Given the description of an element on the screen output the (x, y) to click on. 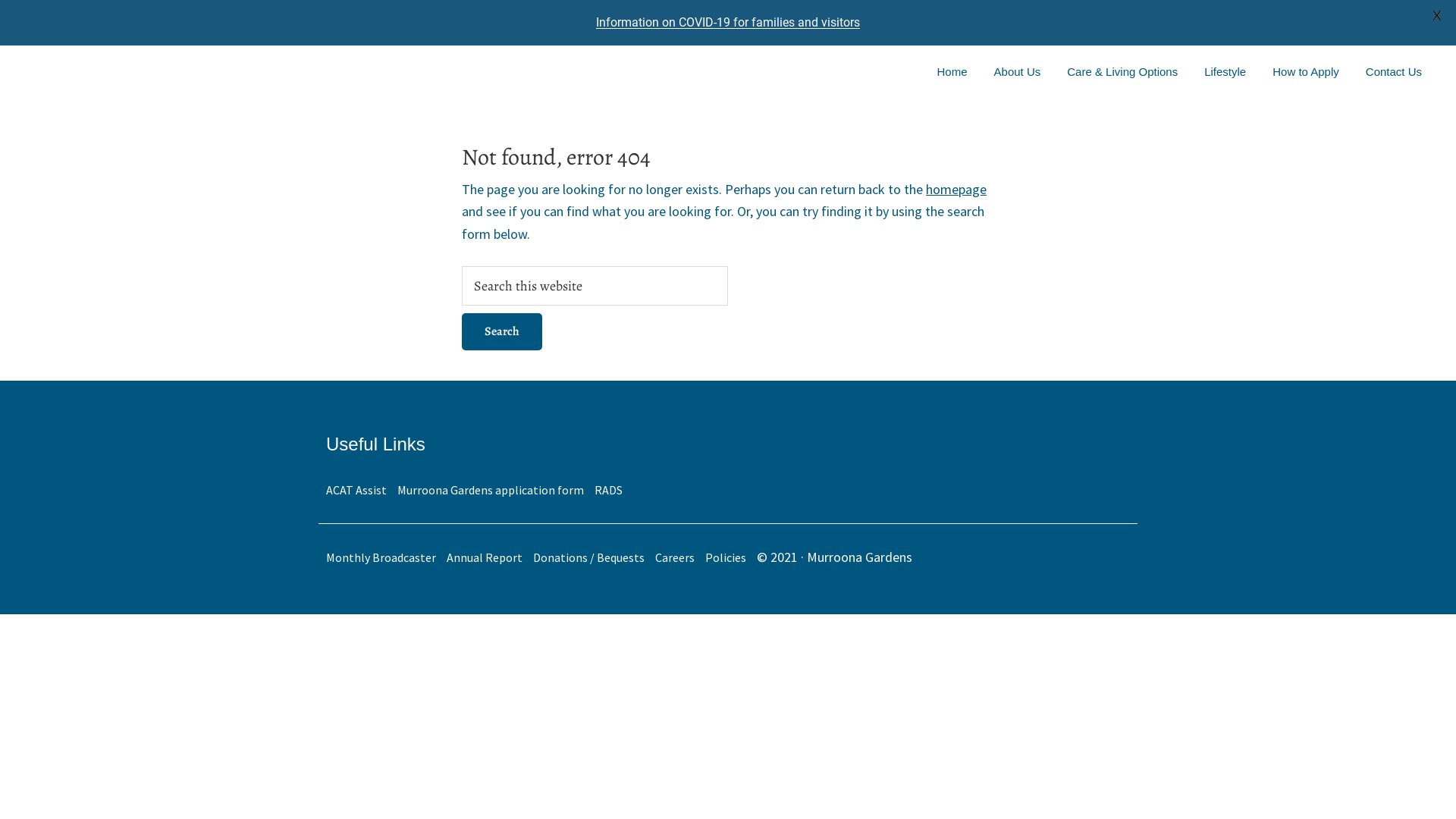
Monthly Broadcaster Element type: text (384, 556)
Information on COVID-19 for families and visitors Element type: text (727, 22)
homepage Element type: text (955, 188)
Home Element type: text (952, 71)
RADS Element type: text (612, 489)
ACAT Assist Element type: text (360, 489)
Care & Living Options Element type: text (1122, 71)
How to Apply Element type: text (1305, 71)
Skip to primary navigation Element type: text (0, 45)
Annual Report Element type: text (488, 556)
About Us Element type: text (1017, 71)
Donations / Bequests Element type: text (592, 556)
Murroona Gardens application form Element type: text (494, 489)
Lifestyle Element type: text (1224, 71)
Search Element type: text (501, 331)
X Element type: text (1436, 14)
Policies Element type: text (729, 556)
Careers Element type: text (678, 556)
Contact Us Element type: text (1393, 71)
